Given the description of an element on the screen output the (x, y) to click on. 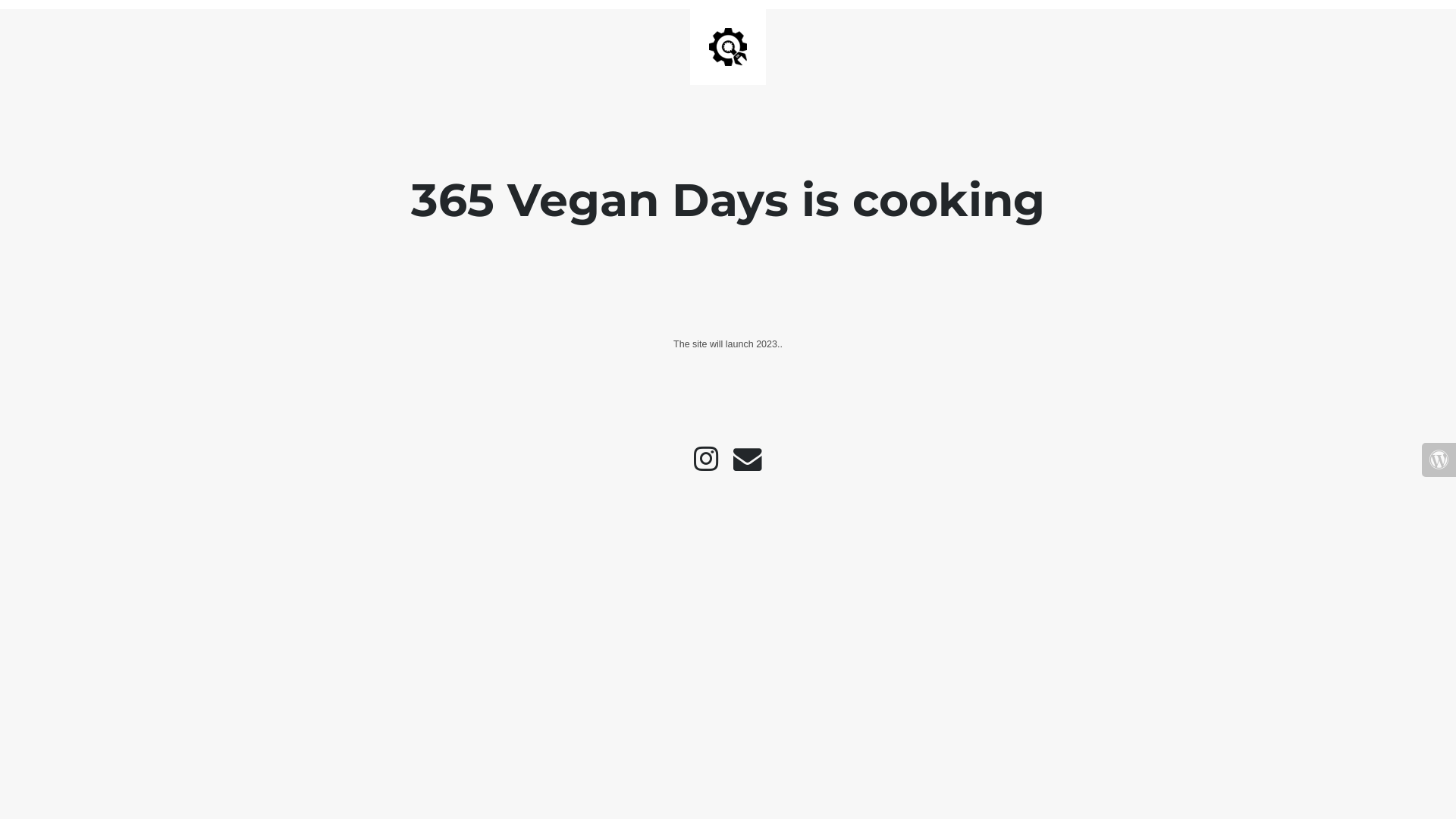
Site is Under Construction Element type: hover (727, 46)
